Given the description of an element on the screen output the (x, y) to click on. 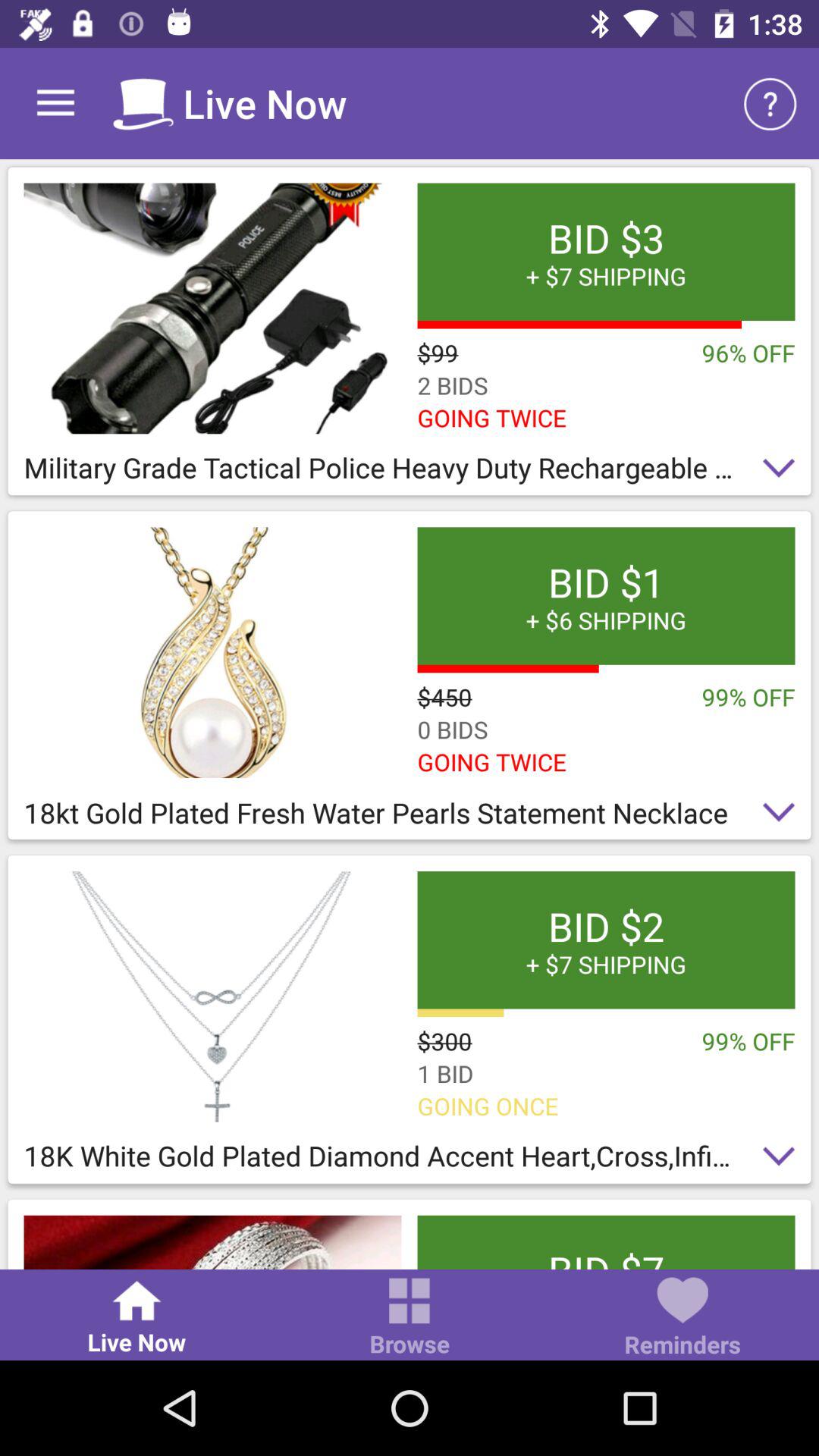
select necklace (212, 996)
